Given the description of an element on the screen output the (x, y) to click on. 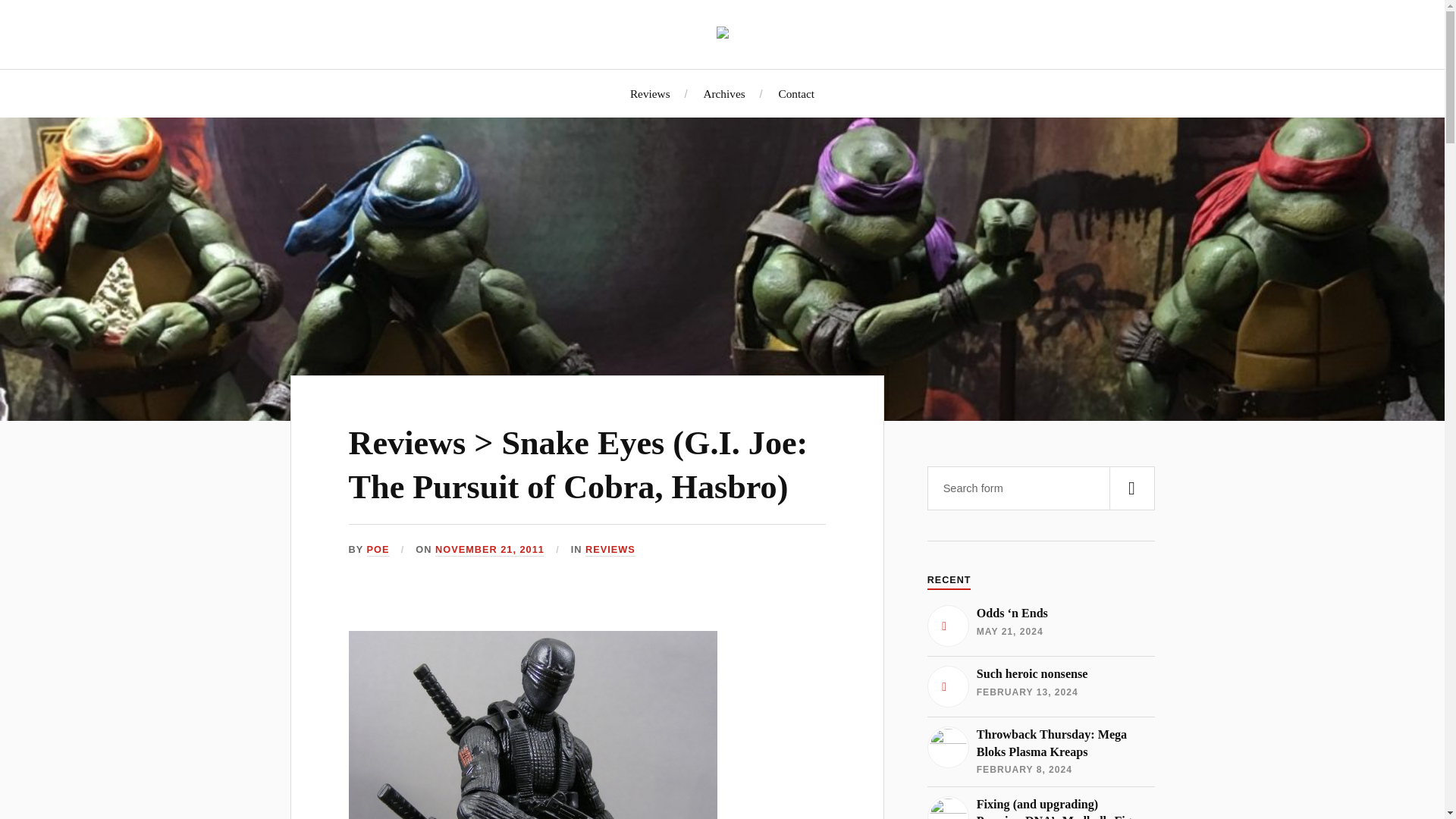
snake-eyes-pursuit-cobra-6 (533, 724)
NOVEMBER 21, 2011 (489, 549)
Posts by Poe (378, 549)
POE (378, 549)
REVIEWS (609, 549)
